Given the description of an element on the screen output the (x, y) to click on. 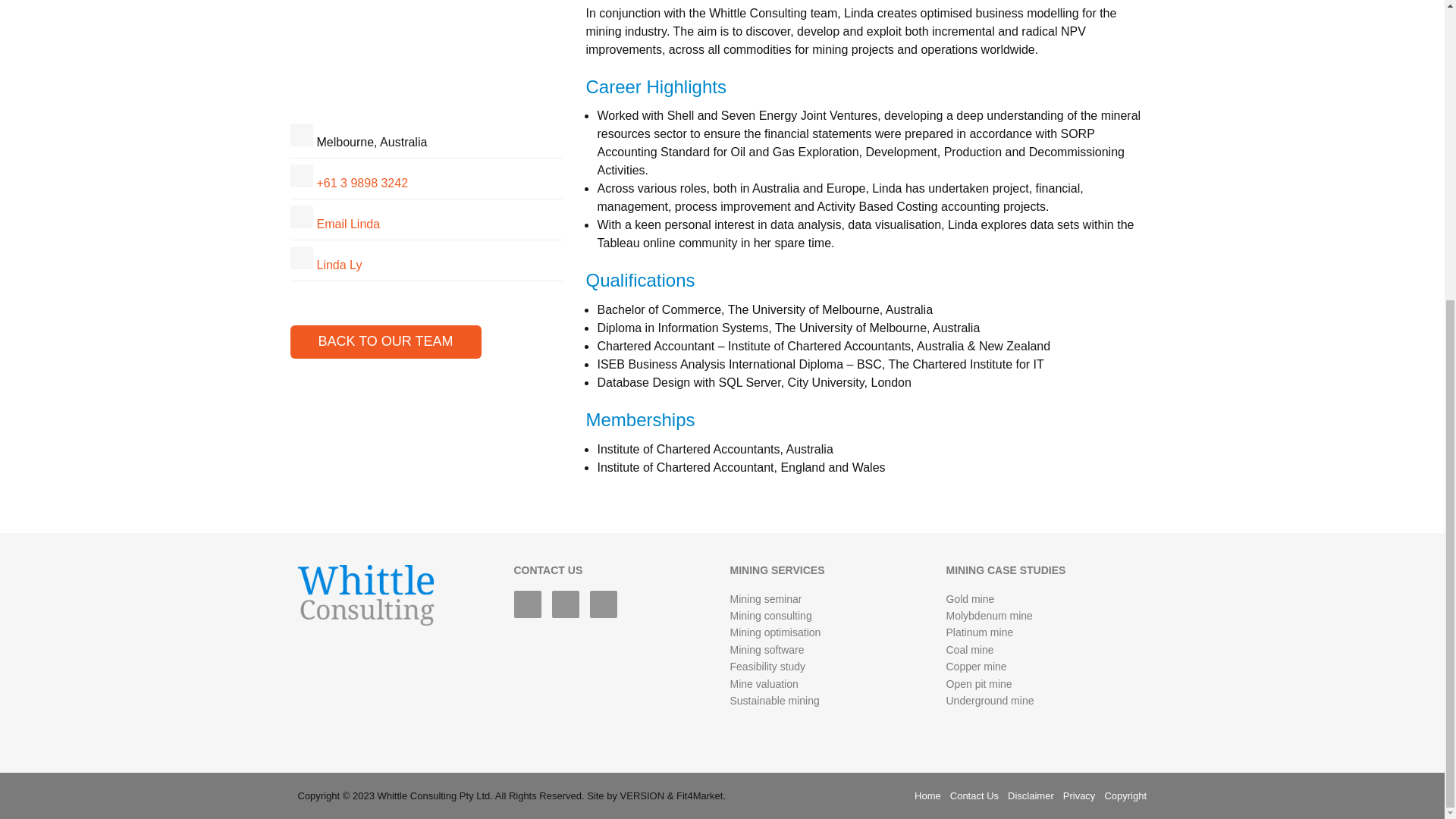
Linda Ly (339, 264)
BACK TO OUR TEAM (384, 341)
Email Linda (348, 223)
